Given the description of an element on the screen output the (x, y) to click on. 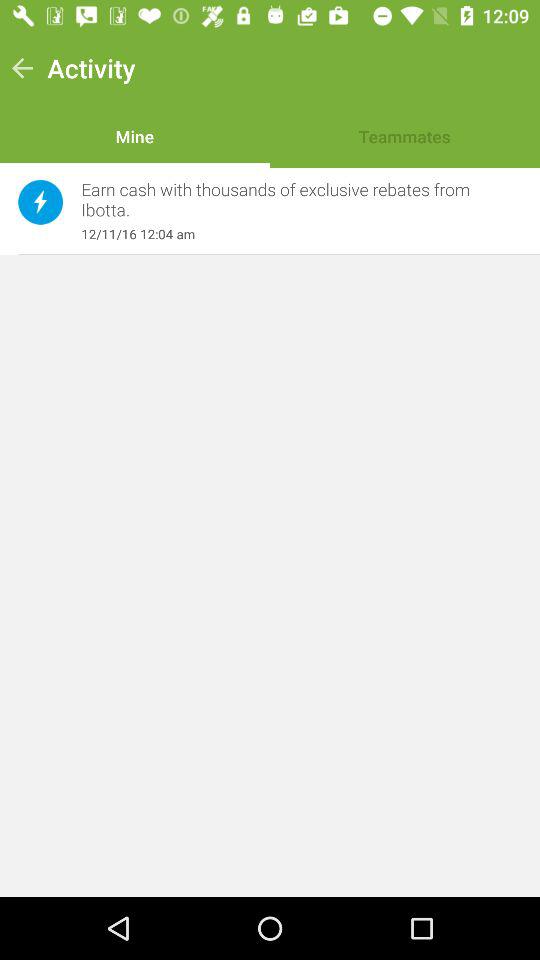
swipe until earn cash with item (291, 200)
